Given the description of an element on the screen output the (x, y) to click on. 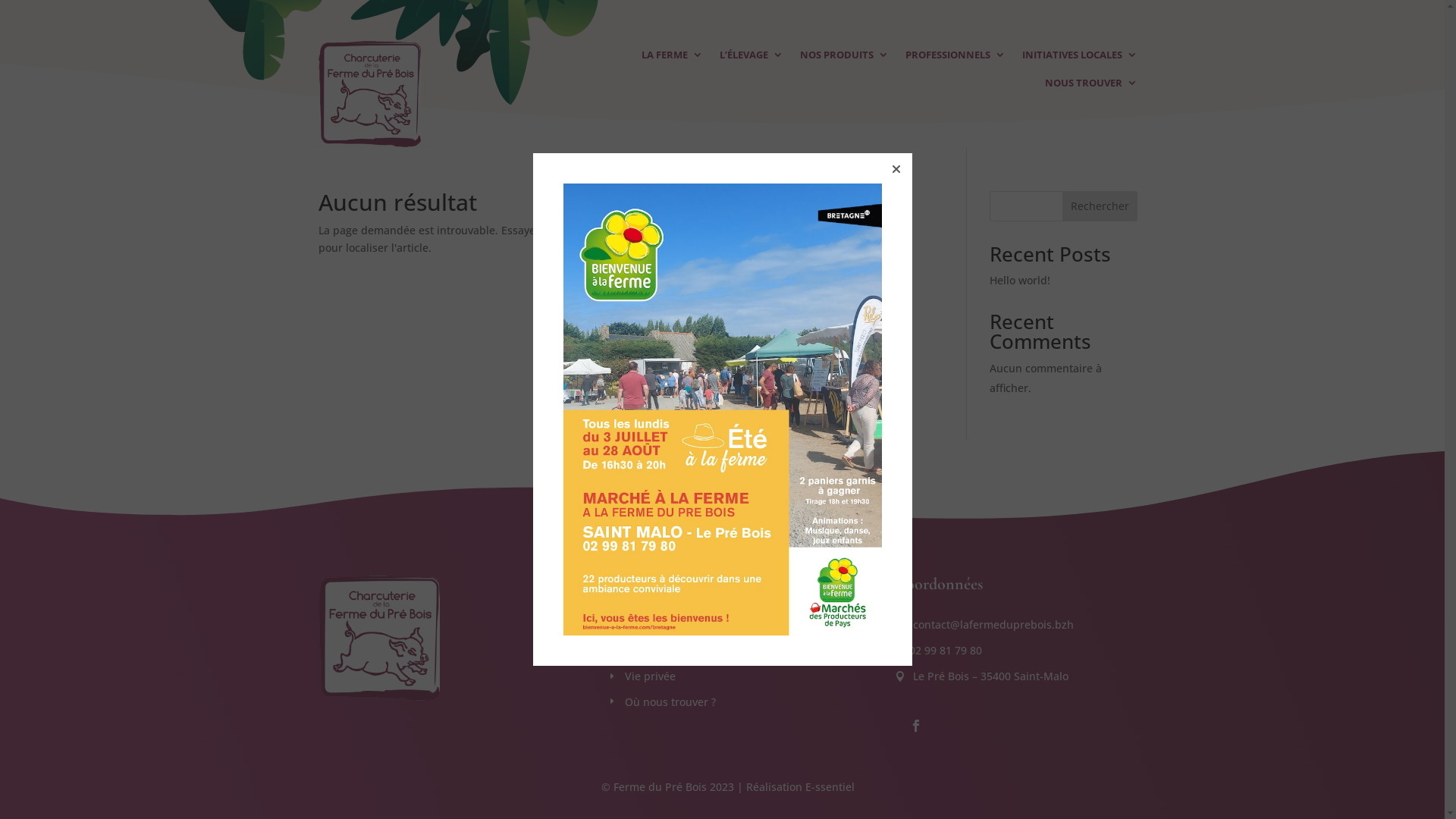
NOUS TROUVER Element type: text (1090, 86)
E
Cookies Element type: text (635, 650)
E-ssentiel Element type: text (829, 786)
NOS PRODUITS Element type: text (844, 58)
Hello world! Element type: text (1019, 280)
logo-ferme-du-pre-bois Element type: hover (369, 93)
Suivez sur Facebook Element type: hover (915, 725)
PROFESSIONNELS Element type: text (955, 58)
Rechercher Element type: text (1099, 206)
logo-ferme-du-pre-bois Element type: hover (378, 637)
LA FERME Element type: text (671, 58)
INITIATIVES LOCALES Element type: text (1079, 58)
